Given the description of an element on the screen output the (x, y) to click on. 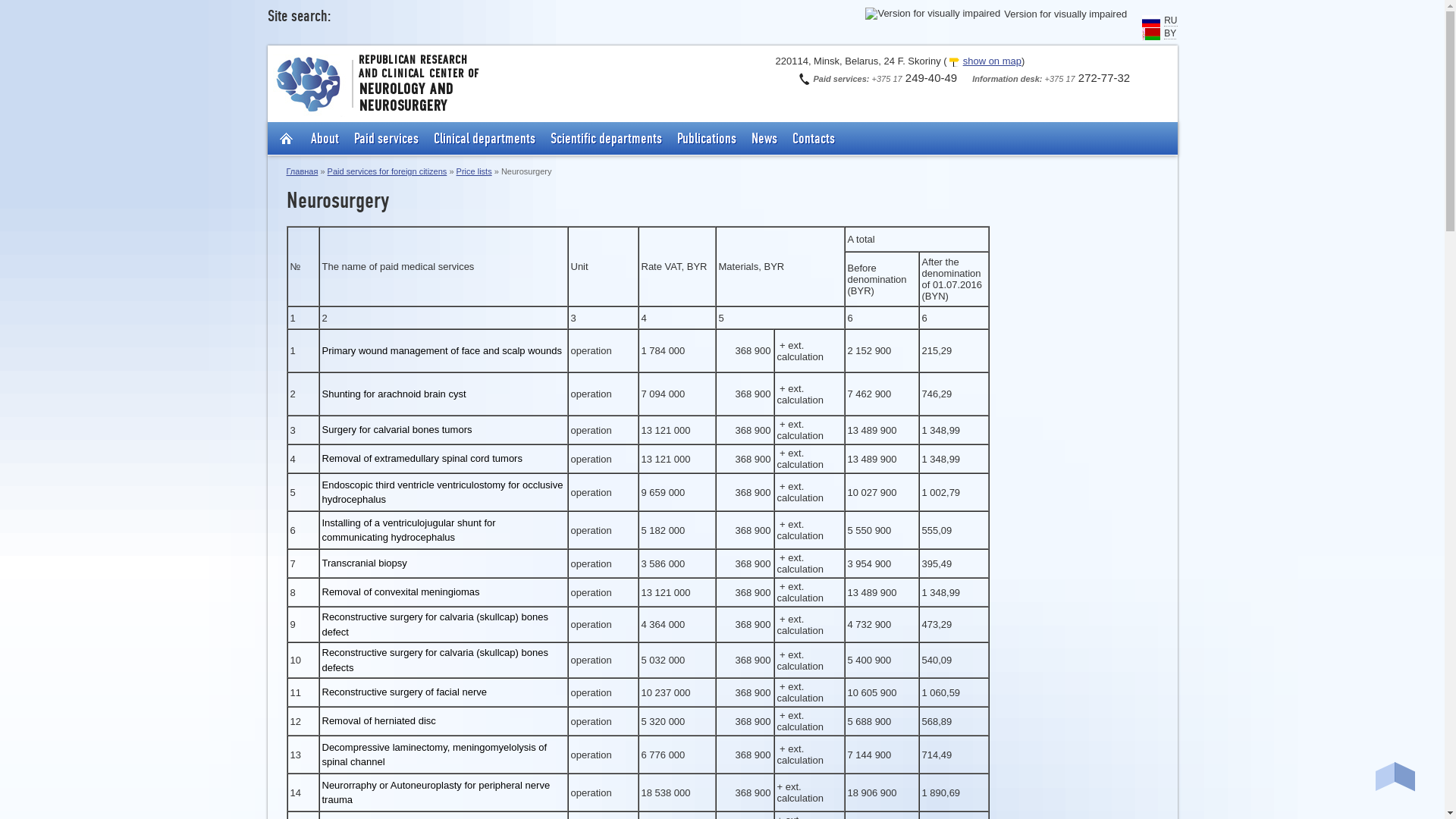
Clinical departments Element type: text (484, 138)
News Element type: text (763, 138)
BY Element type: text (1170, 32)
Price lists Element type: text (474, 170)
show on map Element type: text (984, 60)
Paid services for foreign citizens Element type: text (387, 170)
Version for visually impaired Element type: hover (932, 13)
Paid services Element type: text (385, 138)
Home Element type: hover (288, 138)
Version for visually impaired Element type: text (995, 13)
RU Element type: text (1170, 19)
About Element type: text (324, 138)
Publications Element type: text (705, 138)
Scientific departments Element type: text (605, 138)
Contacts Element type: text (812, 138)
